Given the description of an element on the screen output the (x, y) to click on. 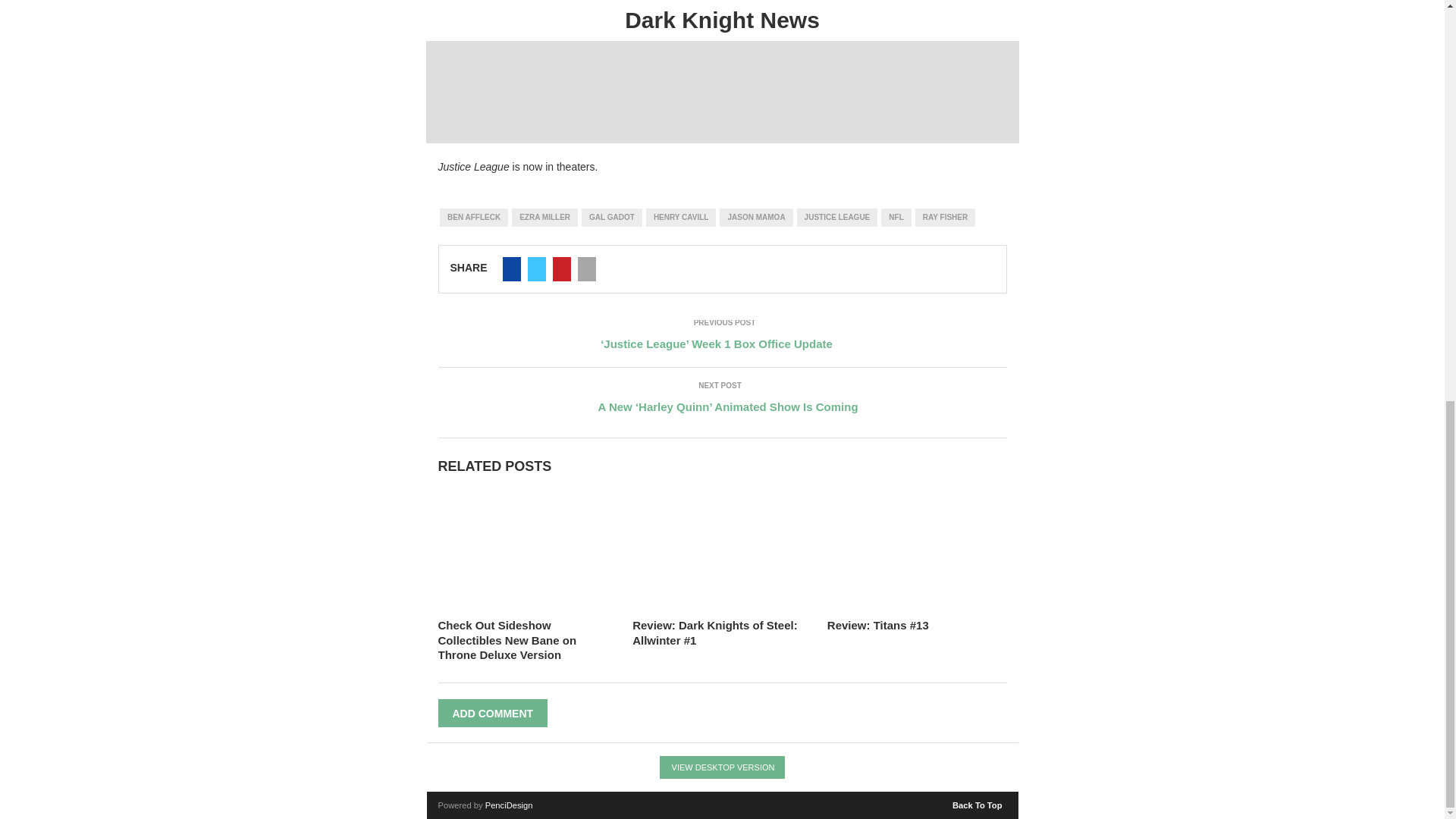
PenciDesign (508, 804)
VIEW DESKTOP VERSION (722, 766)
ADD COMMENT (493, 713)
BEN AFFLECK (473, 217)
RAY FISHER (945, 217)
JASON MAMOA (755, 217)
Back To Top (979, 802)
NFL (895, 217)
EZRA MILLER (545, 217)
GAL GADOT (611, 217)
JUSTICE LEAGUE (836, 217)
HENRY CAVILL (681, 217)
